Given the description of an element on the screen output the (x, y) to click on. 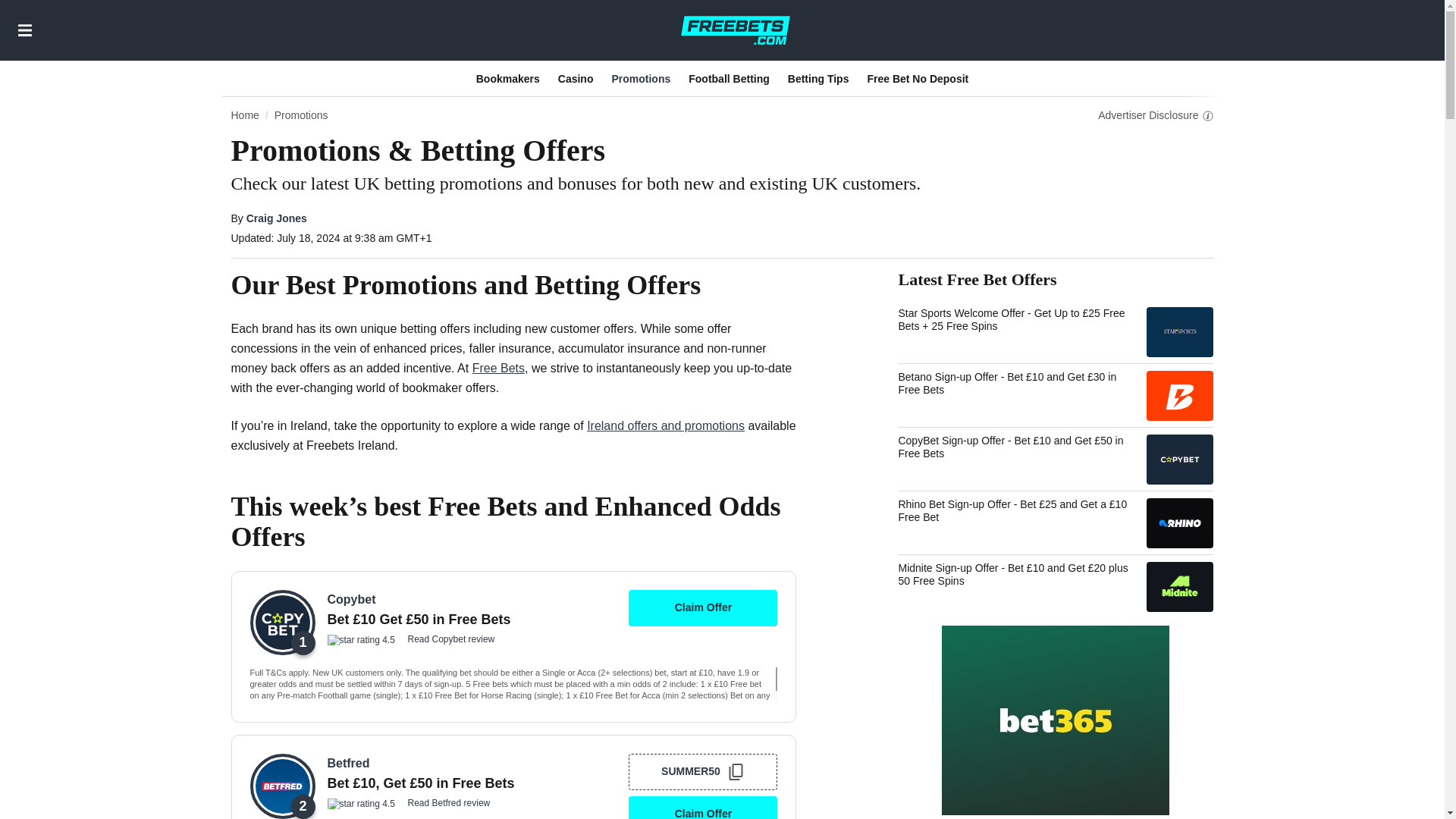
FreeBets Logo (735, 29)
